Given the description of an element on the screen output the (x, y) to click on. 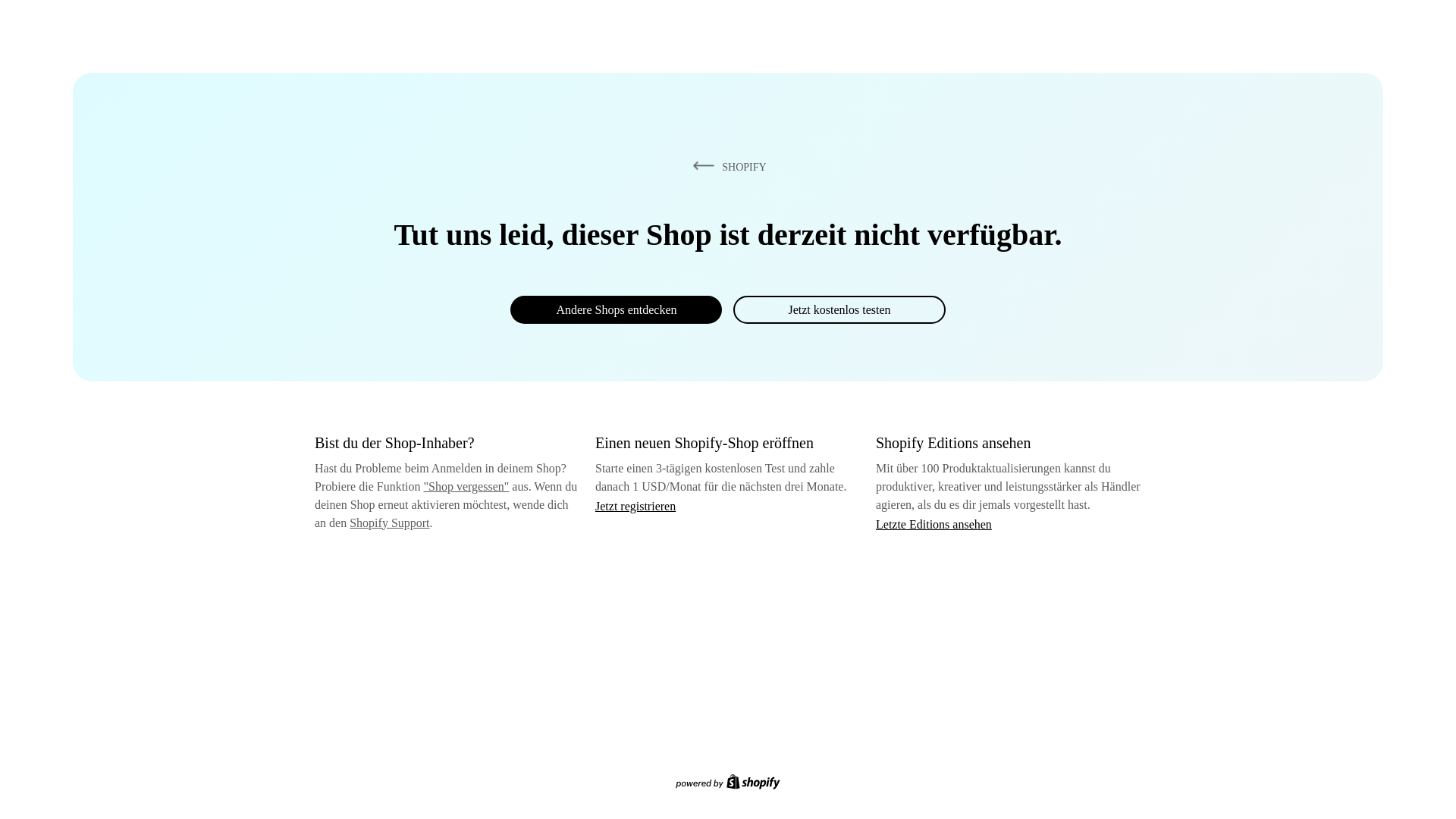
Jetzt kostenlos testen (838, 309)
Shopify Support (389, 522)
"Shop vergessen" (466, 486)
Andere Shops entdecken (616, 309)
Letzte Editions ansehen (933, 523)
Jetzt registrieren (635, 505)
SHOPIFY (726, 166)
